Given the description of an element on the screen output the (x, y) to click on. 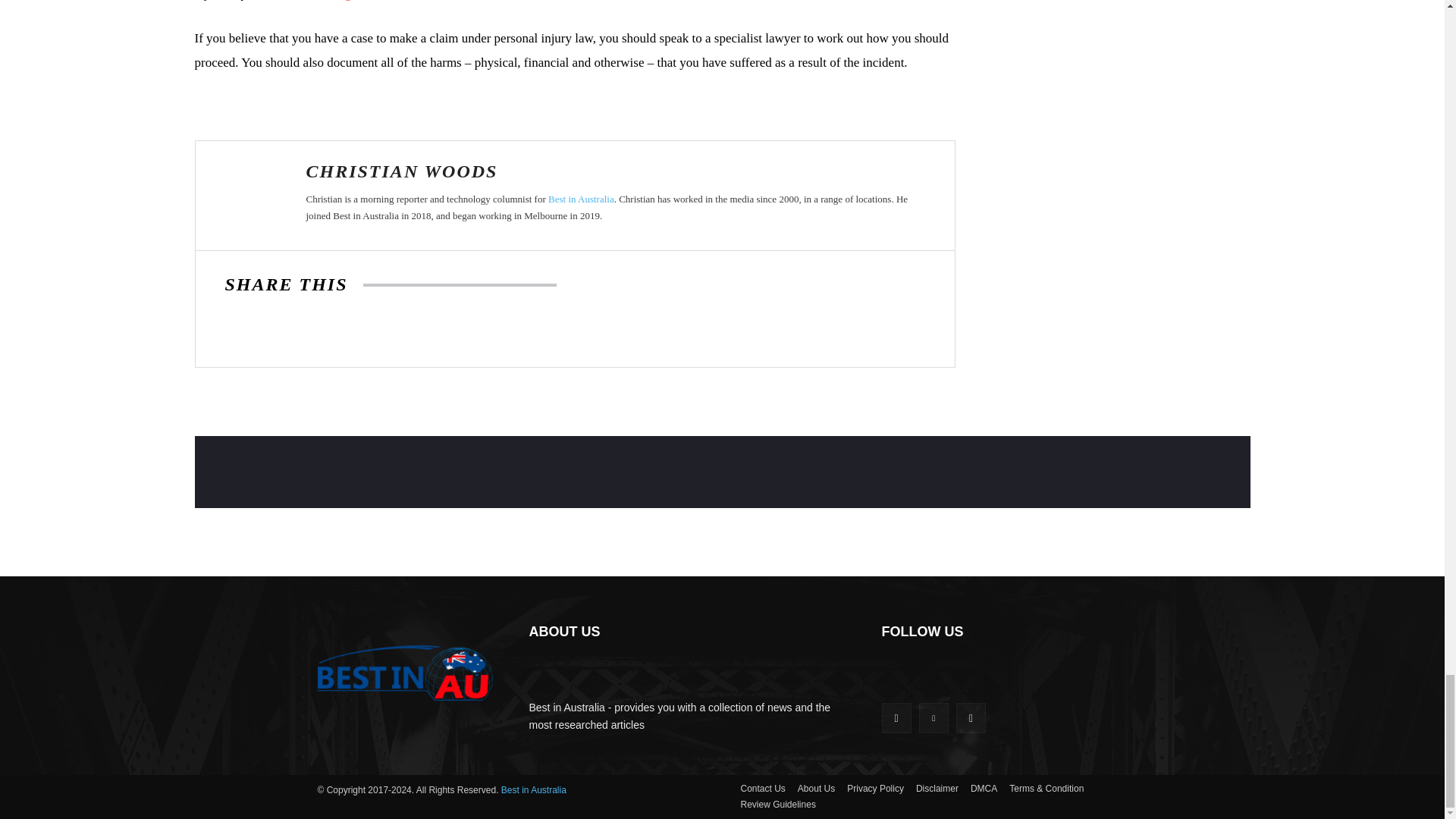
Christian Woods (250, 195)
